Given the description of an element on the screen output the (x, y) to click on. 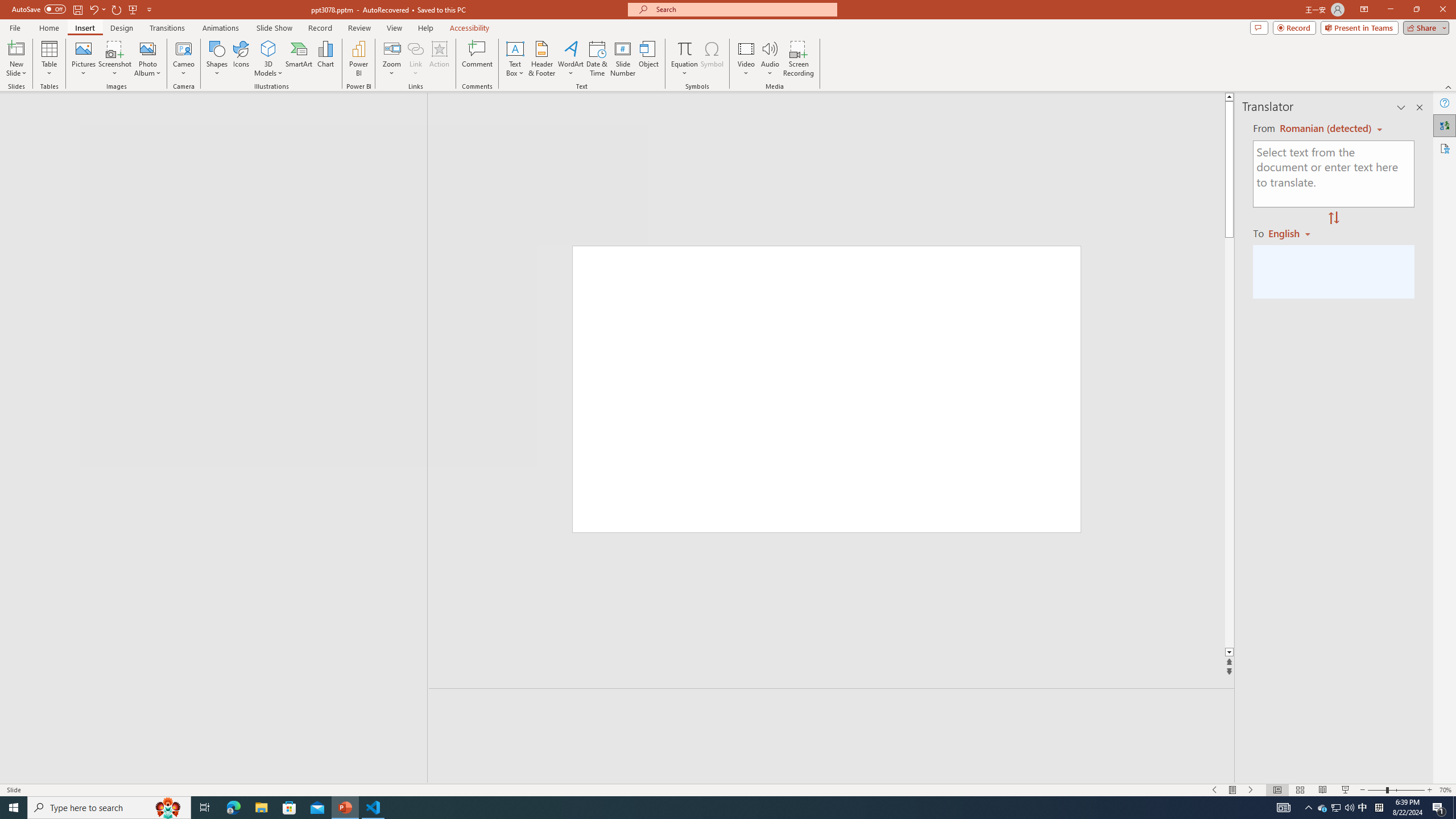
Icons (240, 58)
3D Models (268, 58)
Link (415, 48)
Video (745, 58)
